Given the description of an element on the screen output the (x, y) to click on. 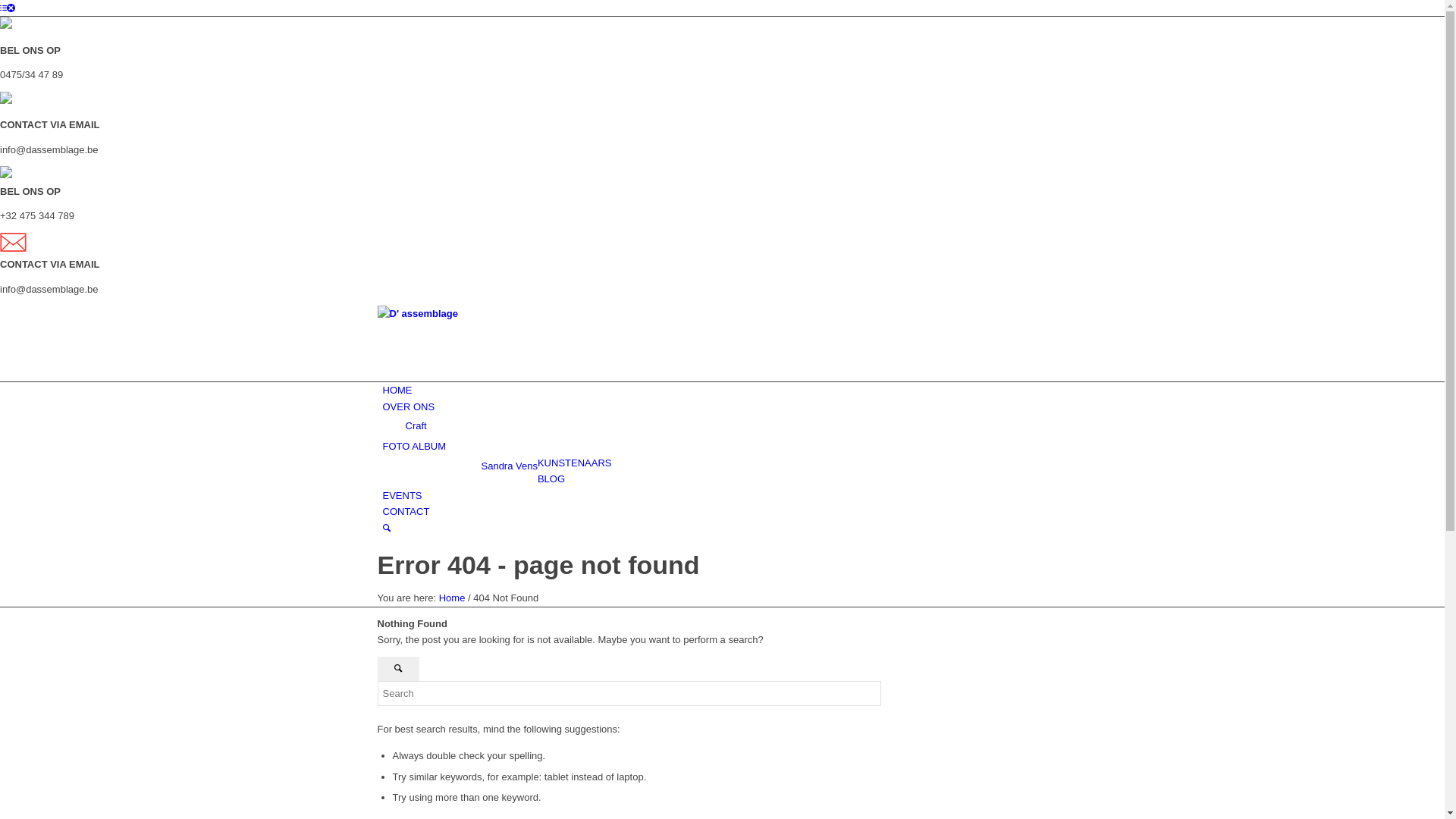
Sandra Vens Element type: text (508, 465)
HOME Element type: text (396, 389)
KUNSTENAARS Element type: text (574, 462)
Craft Element type: text (415, 425)
EVENTS Element type: text (401, 495)
OVER ONS Element type: text (408, 406)
Home Element type: text (452, 597)
FOTO ALBUM Element type: text (413, 445)
CONTACT Element type: text (405, 511)
BLOG Element type: text (550, 478)
